Given the description of an element on the screen output the (x, y) to click on. 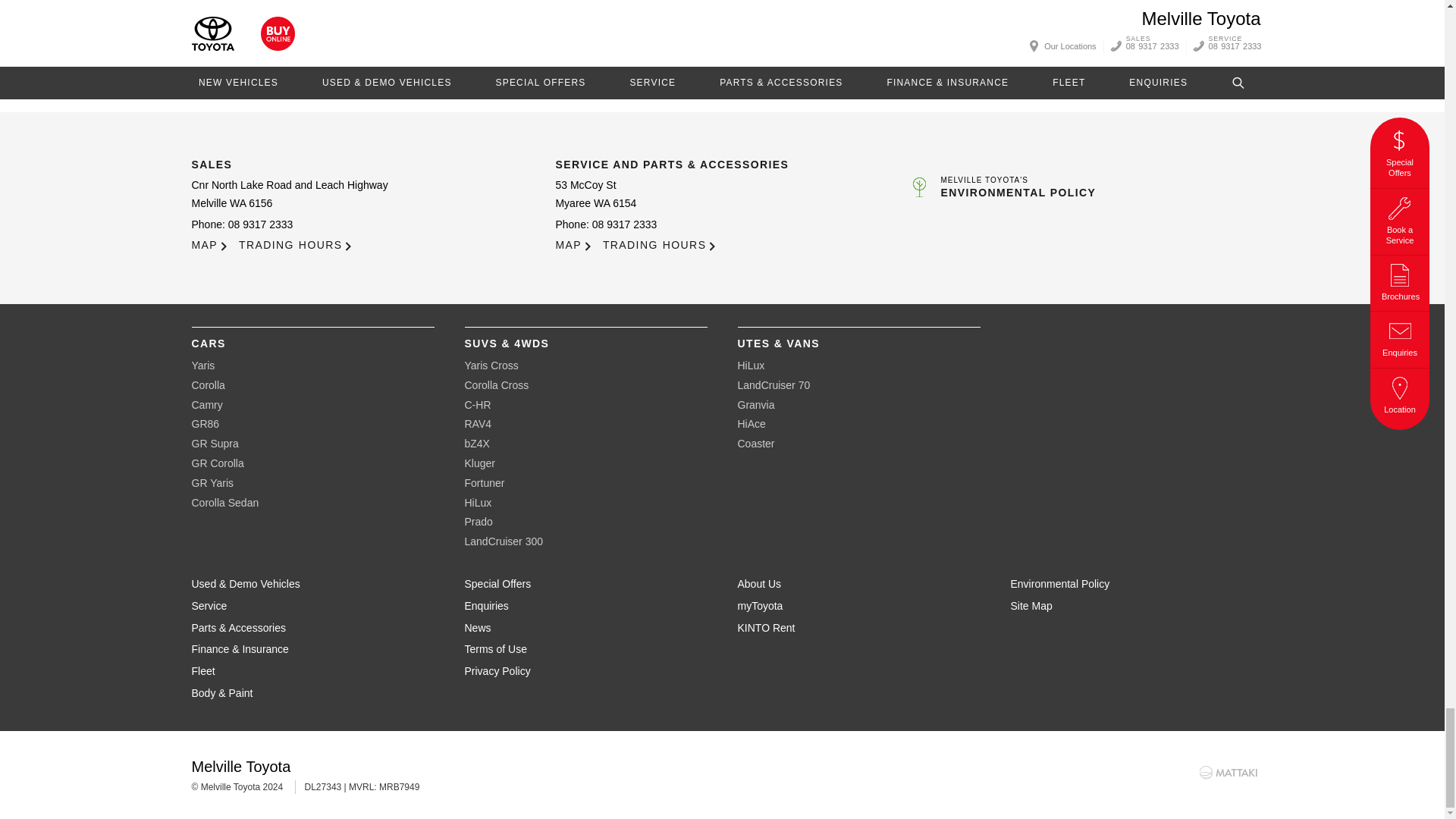
Facebook (1231, 89)
Twitter (1246, 89)
